Given the description of an element on the screen output the (x, y) to click on. 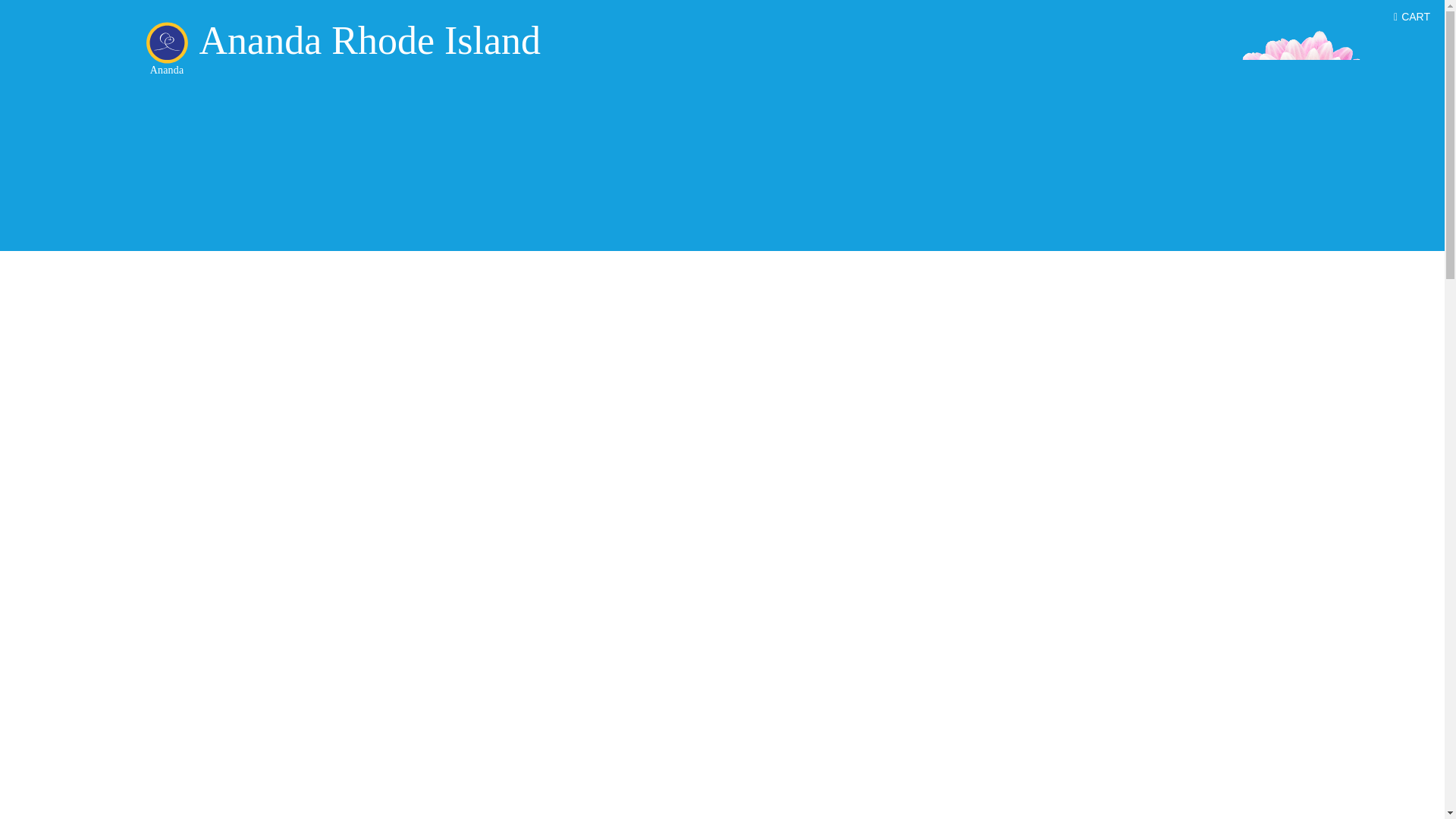
Home (369, 40)
Home (165, 43)
Ananda (165, 43)
CART (1411, 16)
Ananda Rhode Island (369, 40)
